Given the description of an element on the screen output the (x, y) to click on. 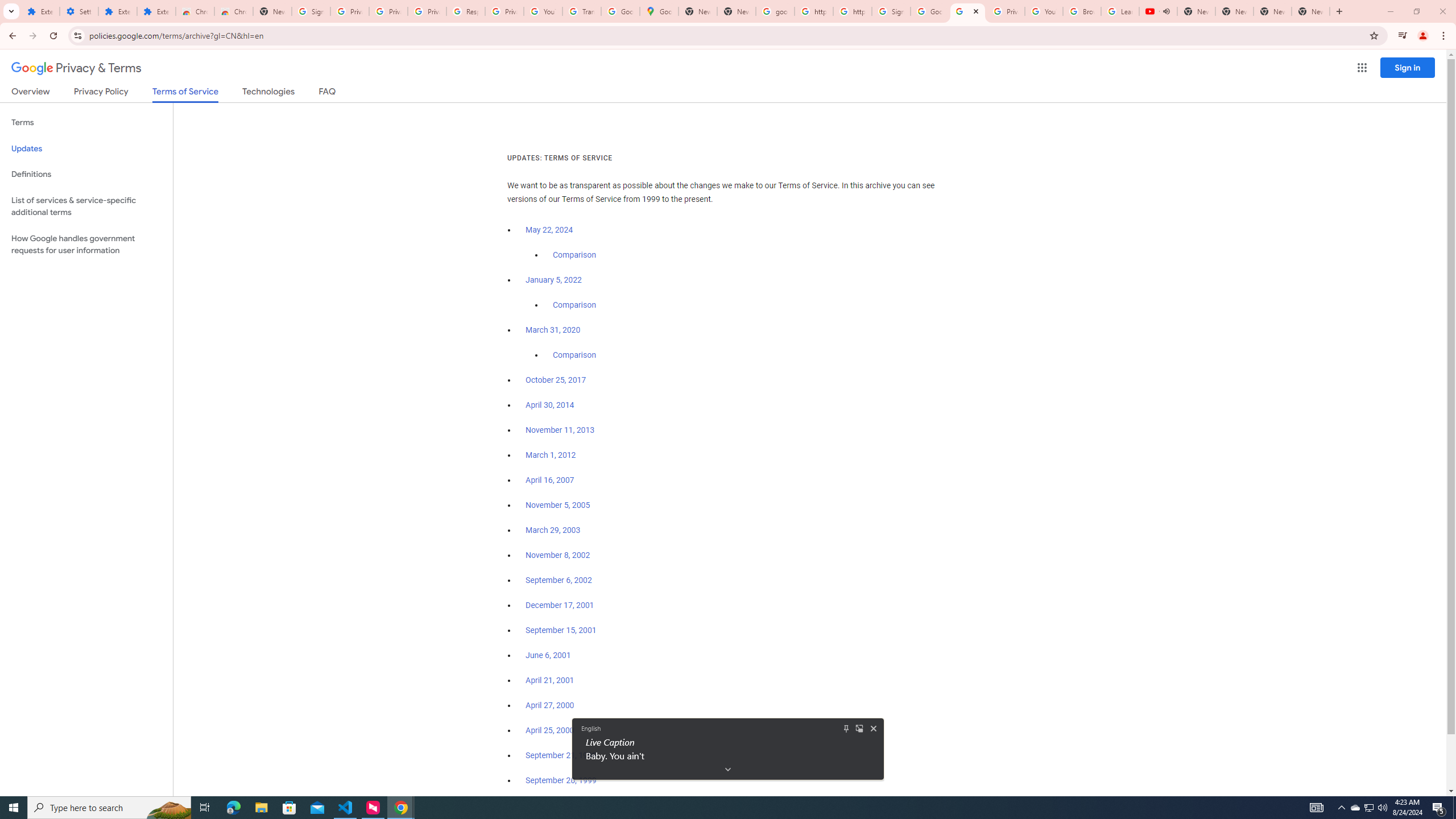
Search highlights icon opens search home window (167, 807)
File Explorer (261, 807)
May 22, 2024 (549, 230)
April 21, 2001 (550, 679)
March 29, 2003 (552, 530)
December 17, 2001 (559, 605)
